Given the description of an element on the screen output the (x, y) to click on. 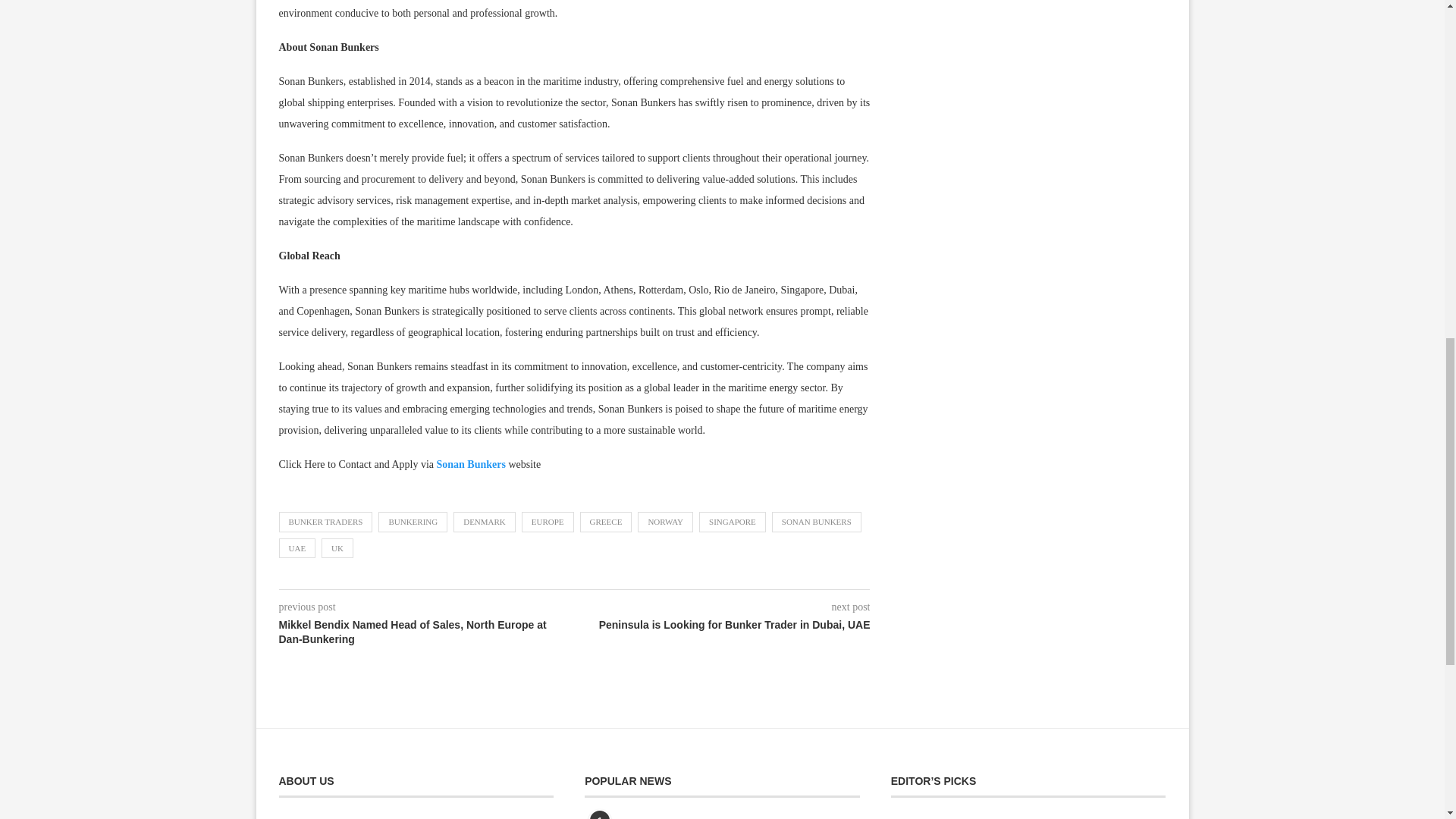
BUNKERING (412, 521)
DENMARK (483, 521)
UAE (297, 547)
Sonan Bunkers (470, 464)
UK (337, 547)
NORWAY (665, 521)
SINGAPORE (731, 521)
Peninsula is Looking for Bunker Trader in Dubai, UAE (722, 625)
BUNKER TRADERS (325, 521)
EUROPE (547, 521)
GREECE (605, 521)
SONAN BUNKERS (816, 521)
